Given the description of an element on the screen output the (x, y) to click on. 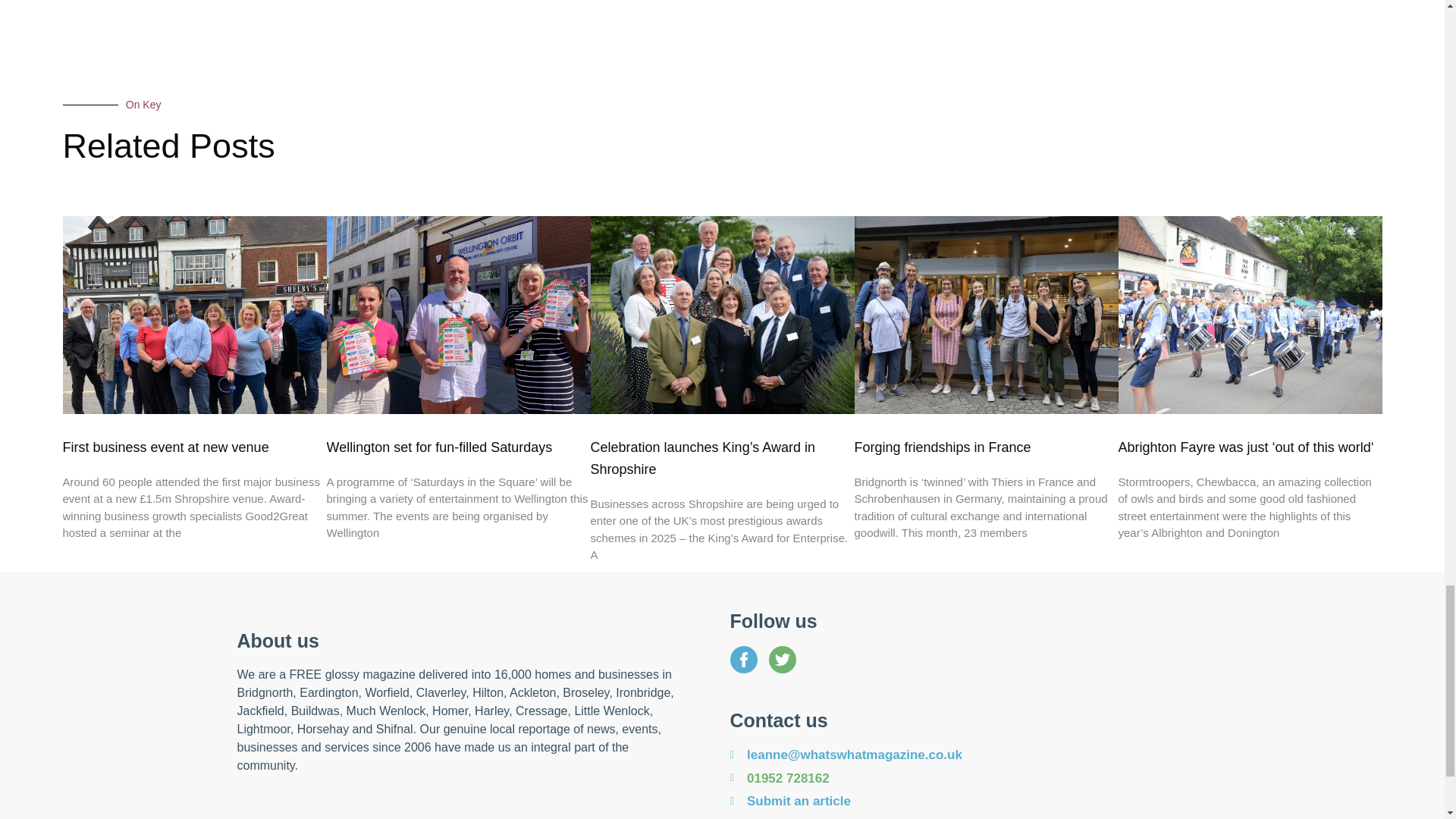
Forging friendships in France (941, 447)
Wellington set for fun-filled Saturdays (438, 447)
First business event at new venue (164, 447)
01952 728162 (968, 778)
Submit an article (968, 801)
